Given the description of an element on the screen output the (x, y) to click on. 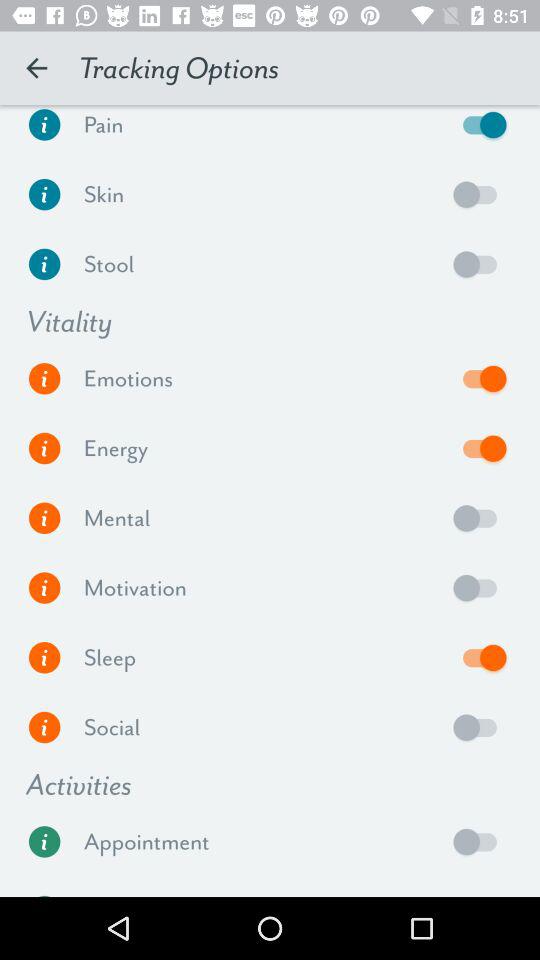
more info on sleep (44, 657)
